Given the description of an element on the screen output the (x, y) to click on. 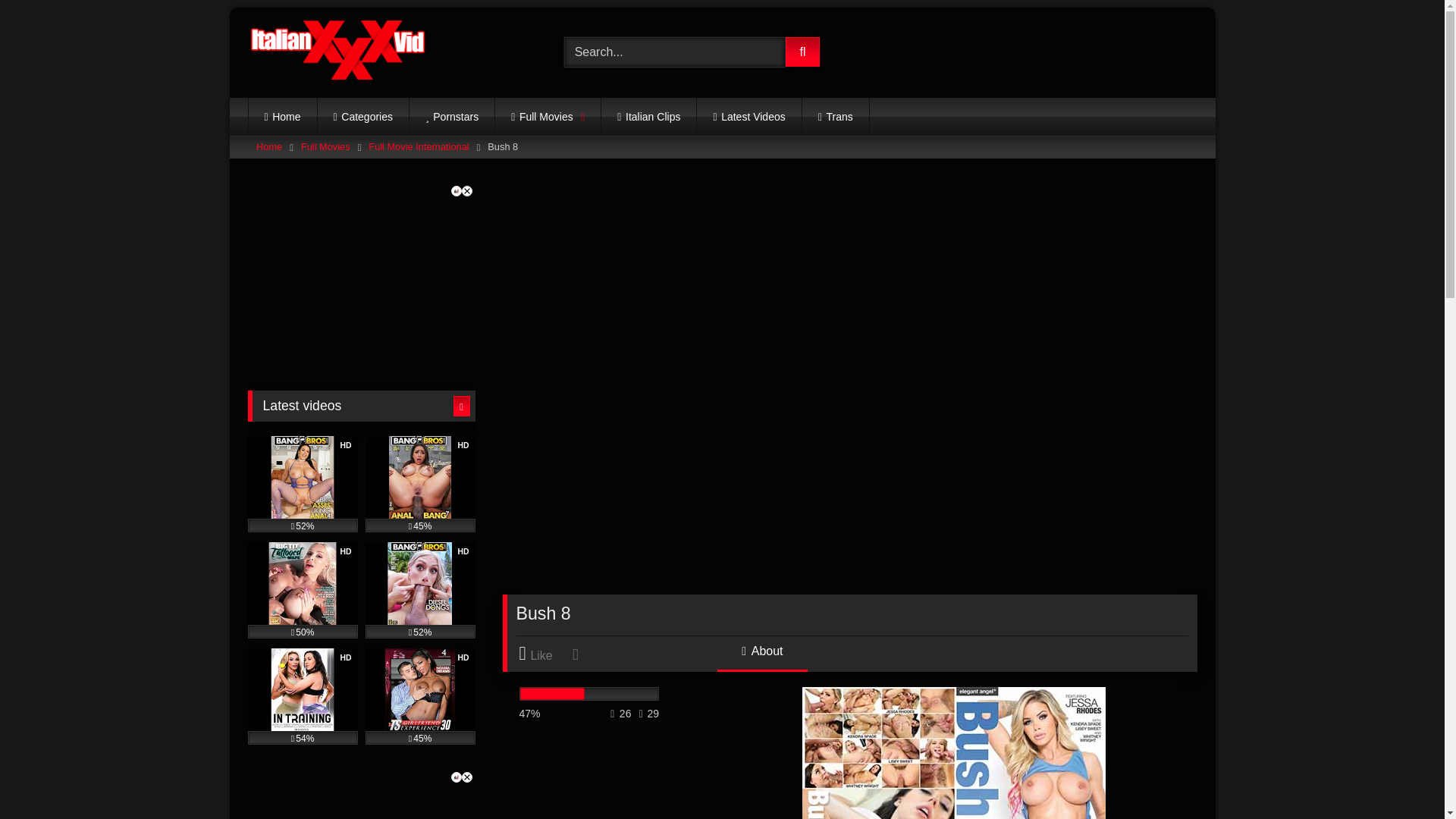
About (761, 656)
Categories (363, 116)
Pornstars (452, 116)
Full Movies (547, 116)
Search... (675, 51)
Trans (835, 116)
Home (282, 116)
Italian Clips (648, 116)
I like this (542, 653)
